Given the description of an element on the screen output the (x, y) to click on. 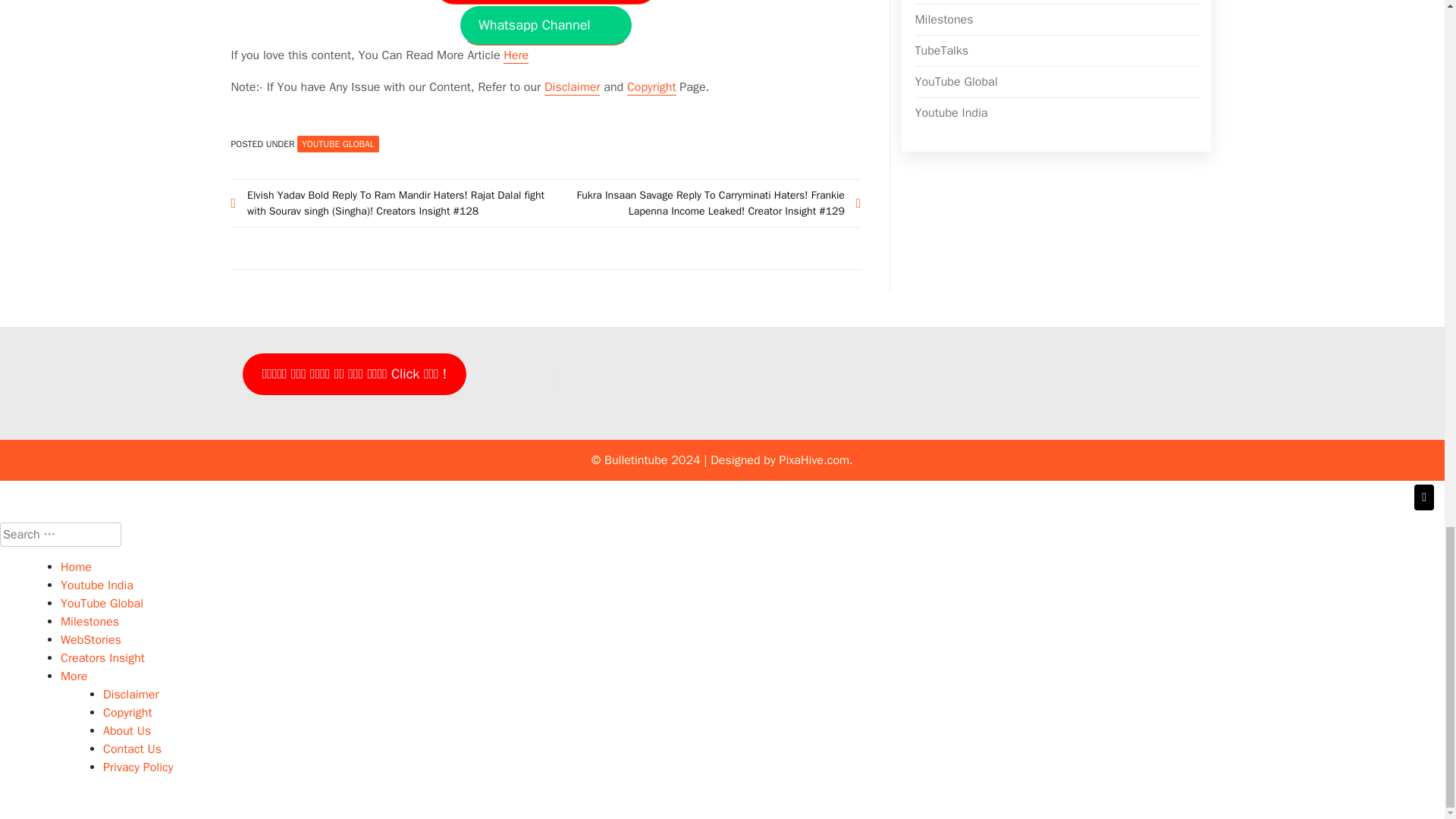
YOUTUBE GLOBAL (337, 143)
Here (515, 55)
Whatsapp Channel (545, 24)
Copyright (652, 87)
Disclaimer (571, 87)
